Given the description of an element on the screen output the (x, y) to click on. 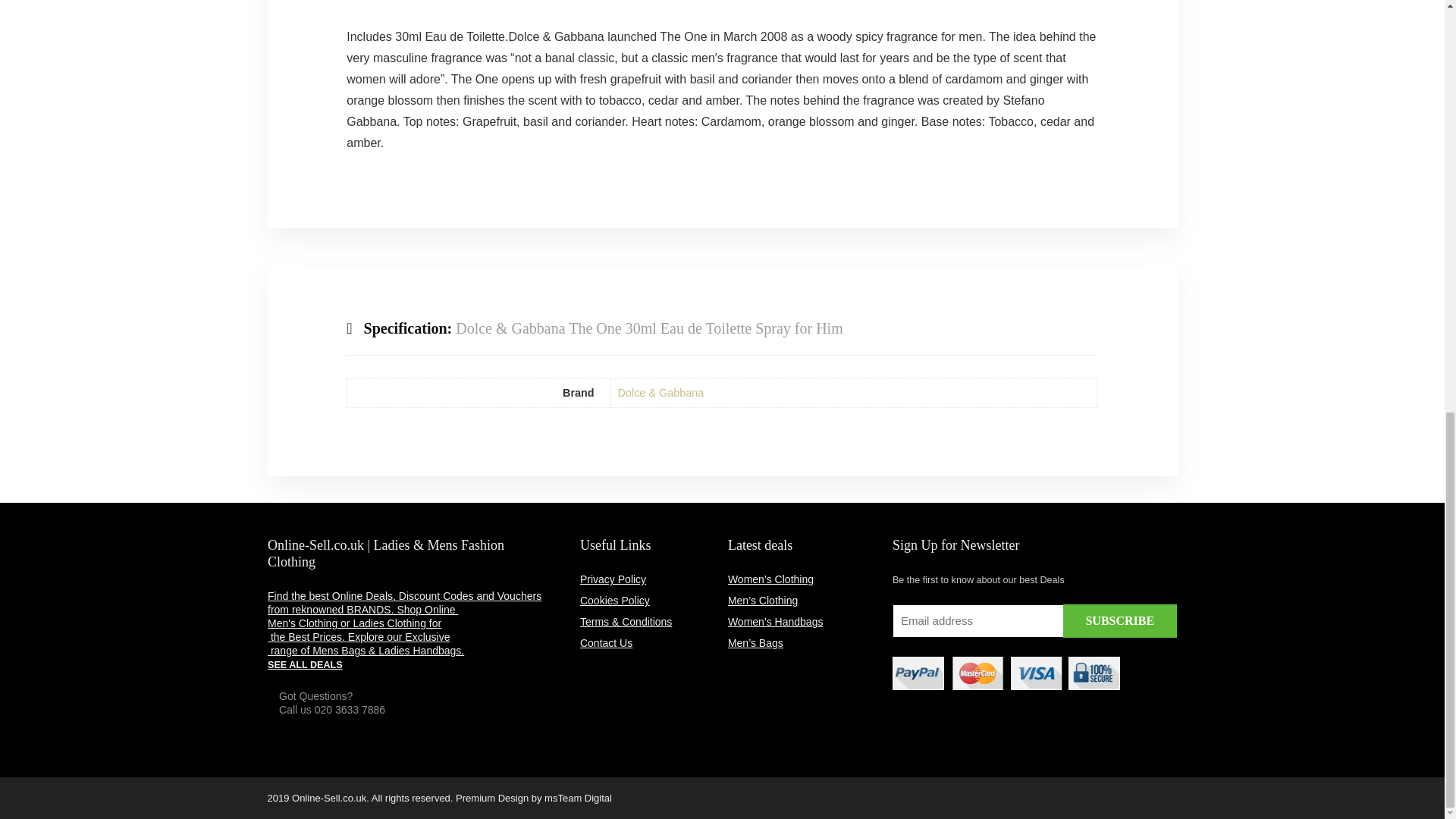
Subscribe (1119, 621)
